Given the description of an element on the screen output the (x, y) to click on. 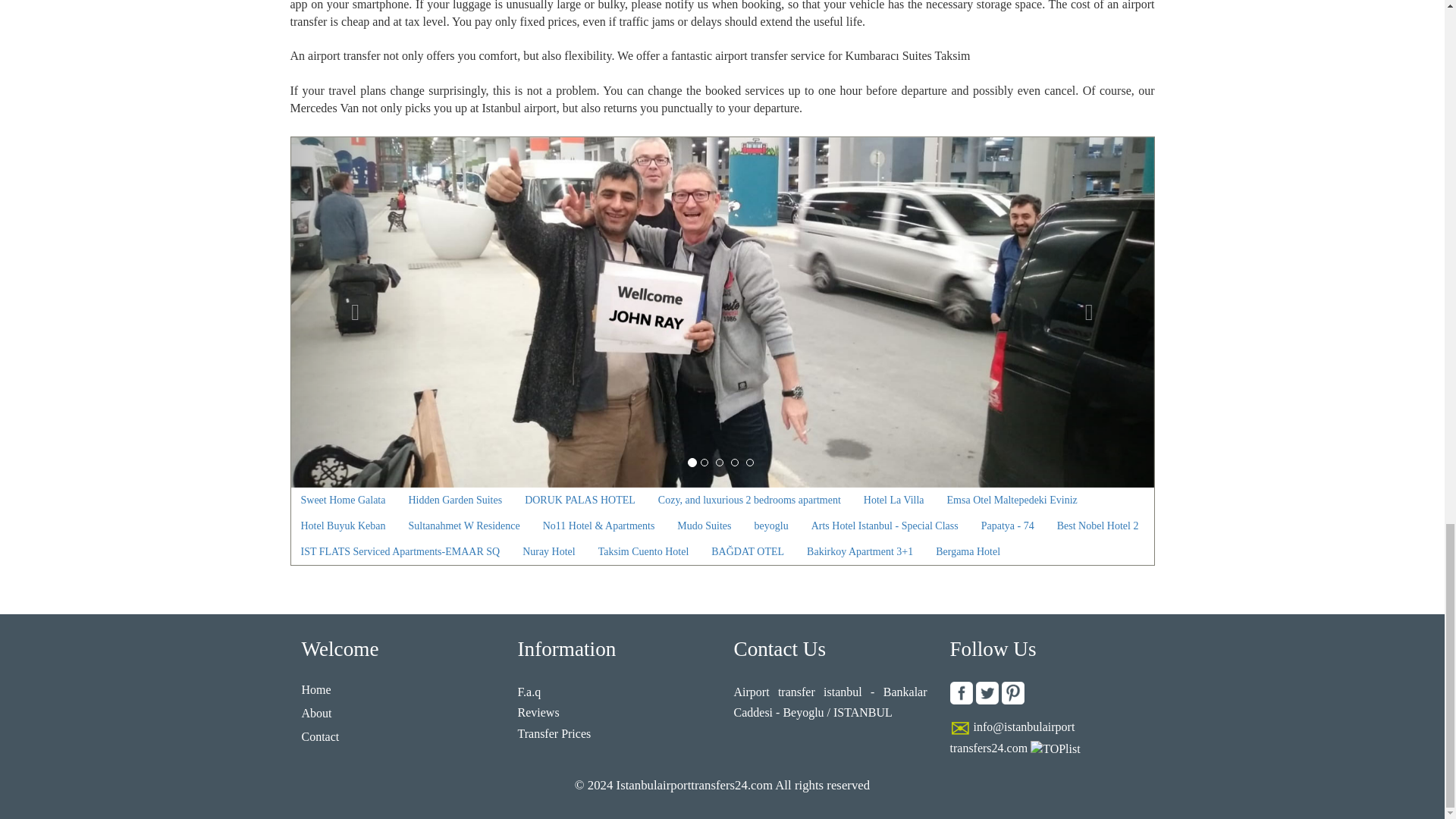
Hotel Buyuk Keban (343, 525)
new istanbul airport to Hidden Garden Suites transfer (454, 500)
IST FLATS Serviced Apartments-EMAAR SQ (401, 551)
new istanbul airport to Hotel Buyuk Keban transfer (343, 525)
F.a.q (528, 691)
Emsa Otel Maltepedeki Eviniz (1012, 500)
Papatya - 74 (1007, 525)
new istanbul airport to Mudo Suites transfer (703, 525)
Sultanahmet W Residence (463, 525)
new istanbul airport to Sultanahmet W Residence transfer (463, 525)
new istanbul airport to Papatya - 74 transfer (1007, 525)
Arts Hotel Istanbul - Special Class (885, 525)
